Given the description of an element on the screen output the (x, y) to click on. 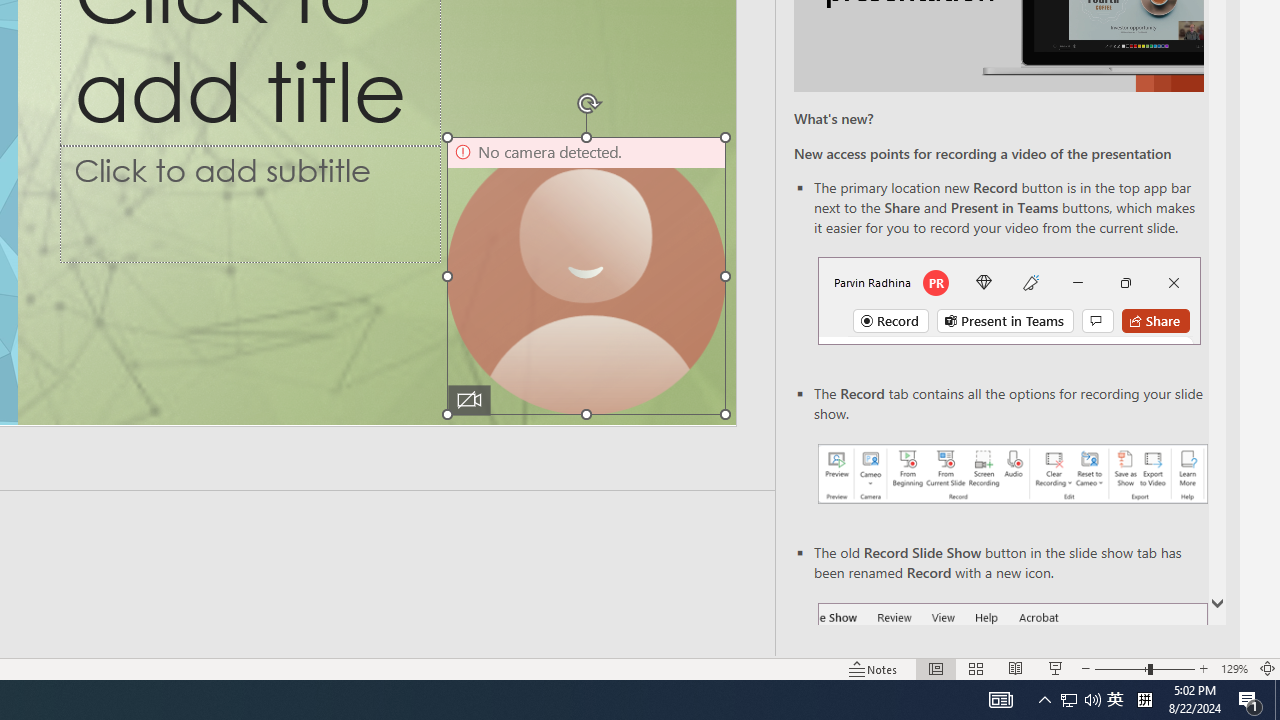
Zoom to Fit  (1267, 668)
